Given the description of an element on the screen output the (x, y) to click on. 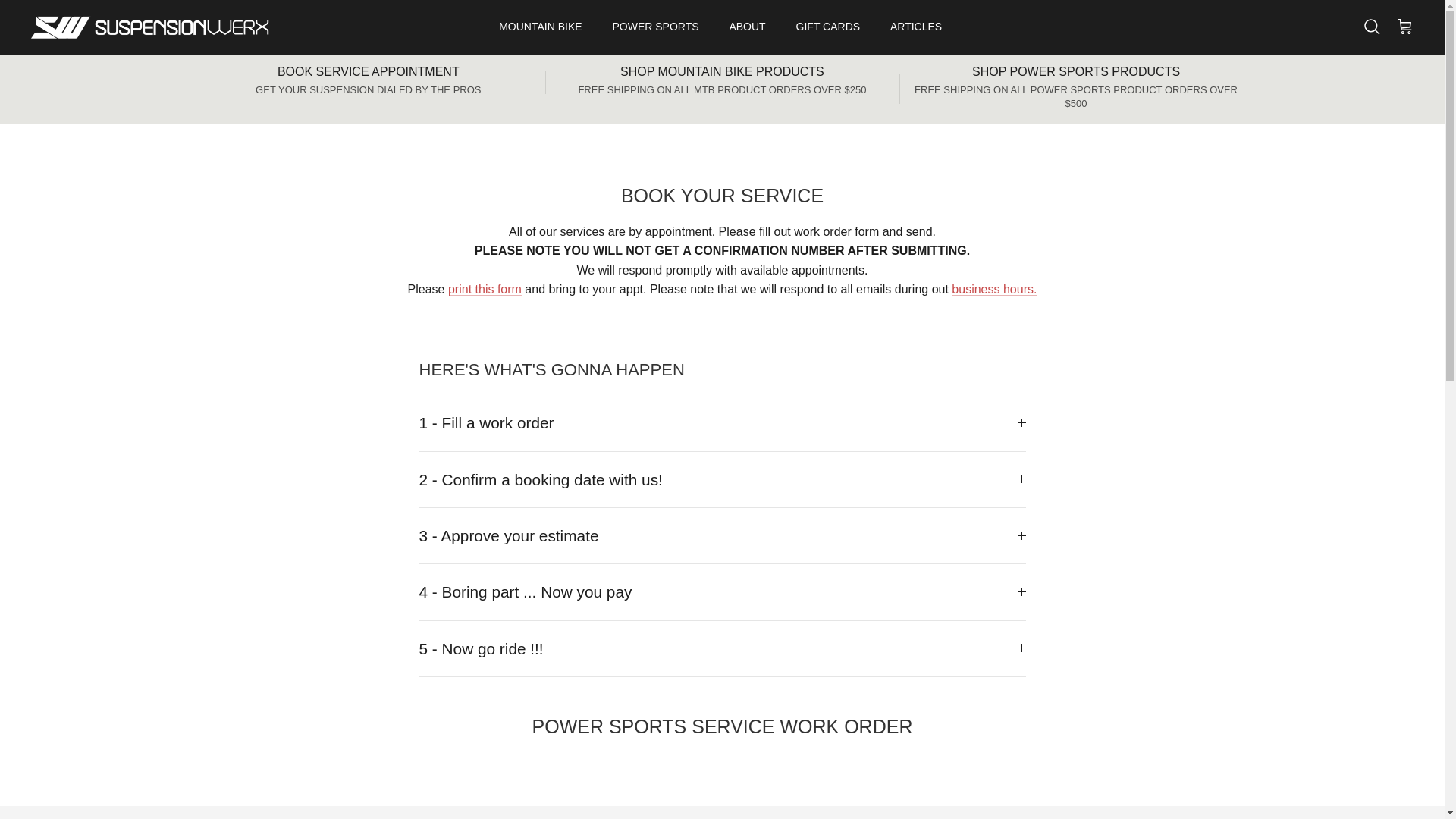
POWER SPORTS (654, 26)
ARTICLES (915, 26)
GIFT CARDS (829, 26)
Search (1371, 26)
Contact (994, 288)
MOUNTAIN BIKE (539, 26)
Suspension Werx (149, 27)
ABOUT (746, 26)
Cart (1404, 26)
